Given the description of an element on the screen output the (x, y) to click on. 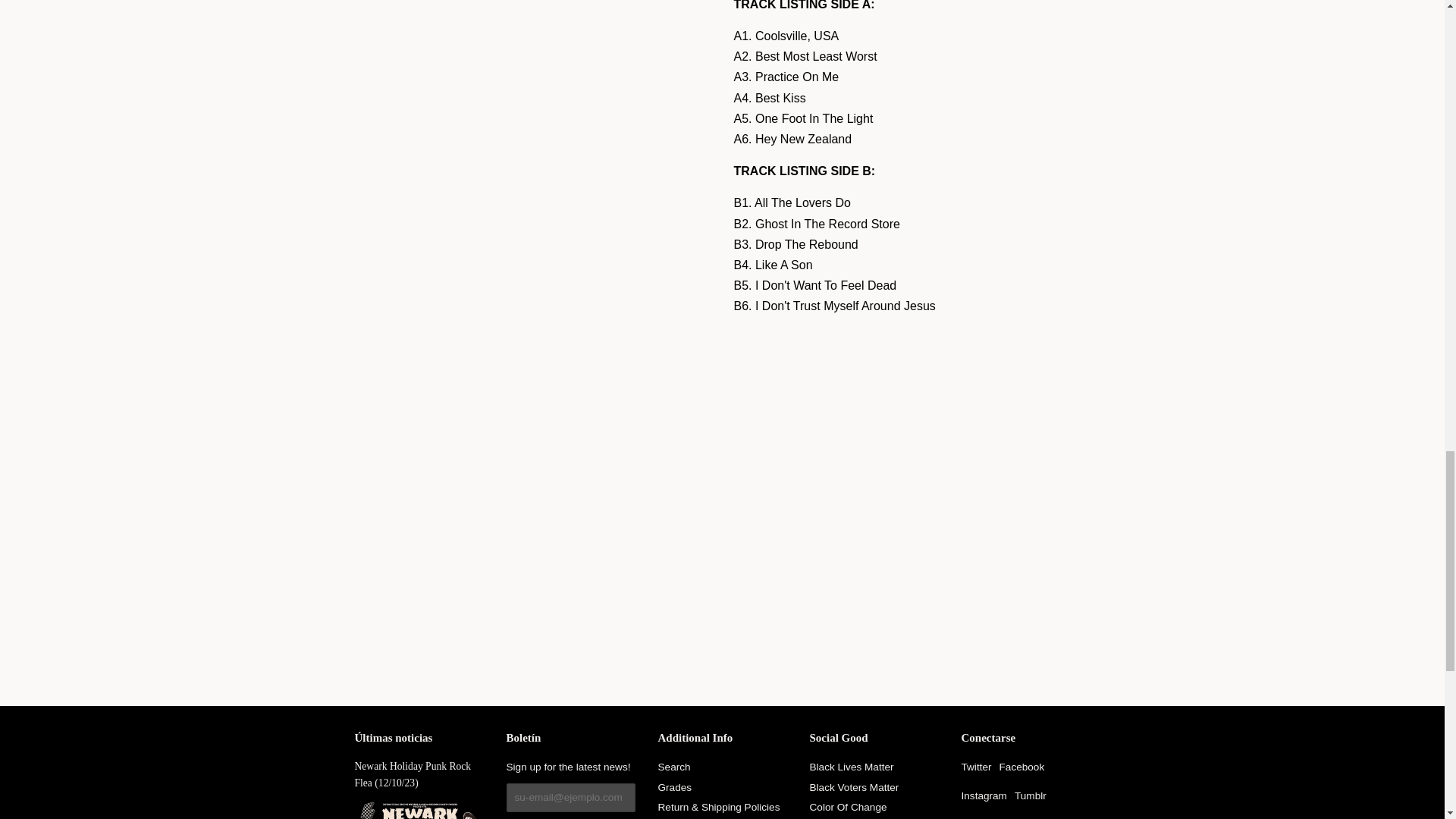
Modern Soul Records en Facebook (1021, 767)
YouTube video player (911, 468)
Modern Soul Records en Tumblr (1030, 795)
Modern Soul Records en Instagram (983, 795)
Modern Soul Records en Twitter (975, 767)
